Given the description of an element on the screen output the (x, y) to click on. 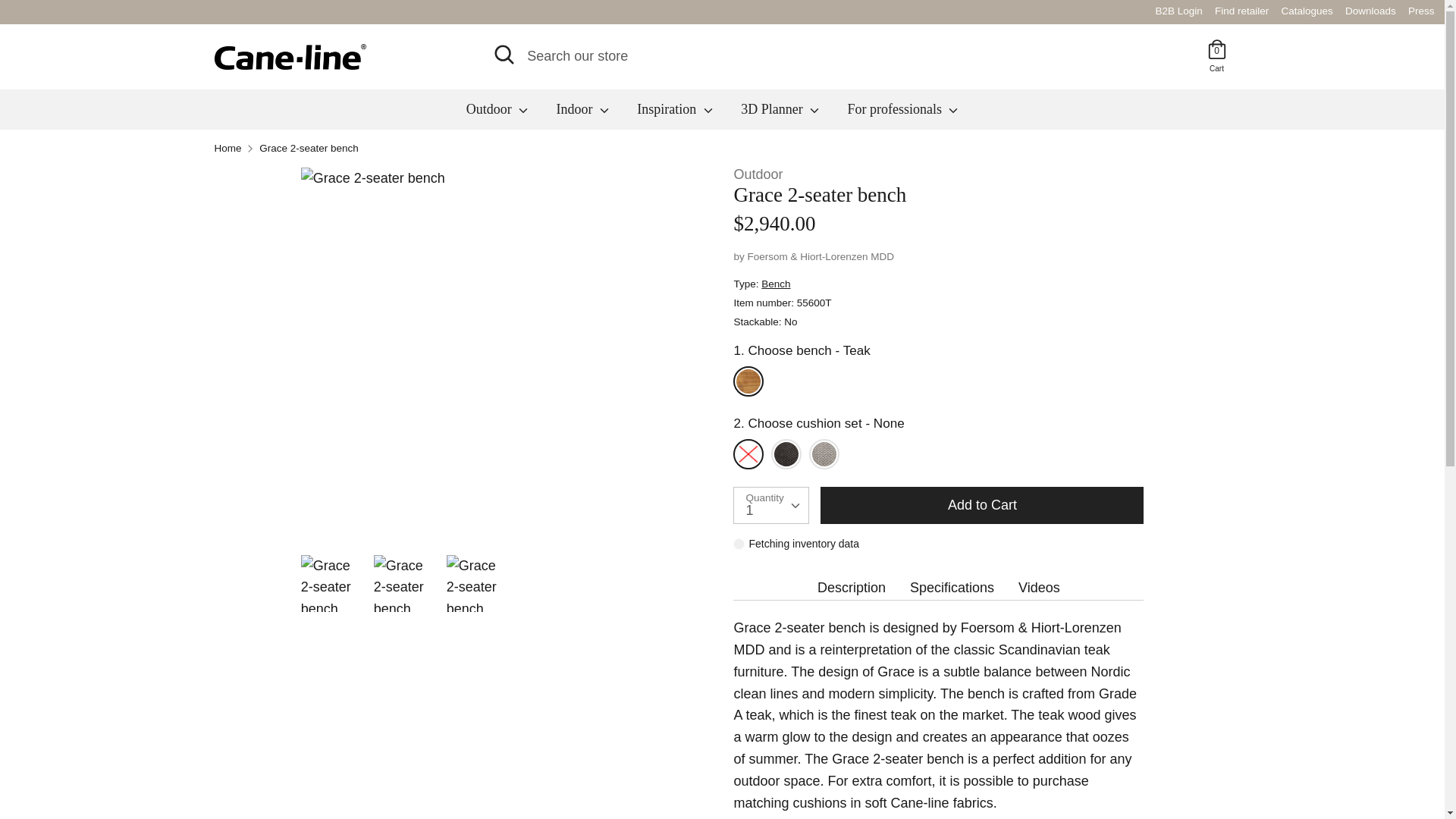
Find retailer (1241, 11)
Downloads (1370, 11)
Catalogues (1307, 11)
Press (1216, 66)
B2B Login (1421, 11)
